Given the description of an element on the screen output the (x, y) to click on. 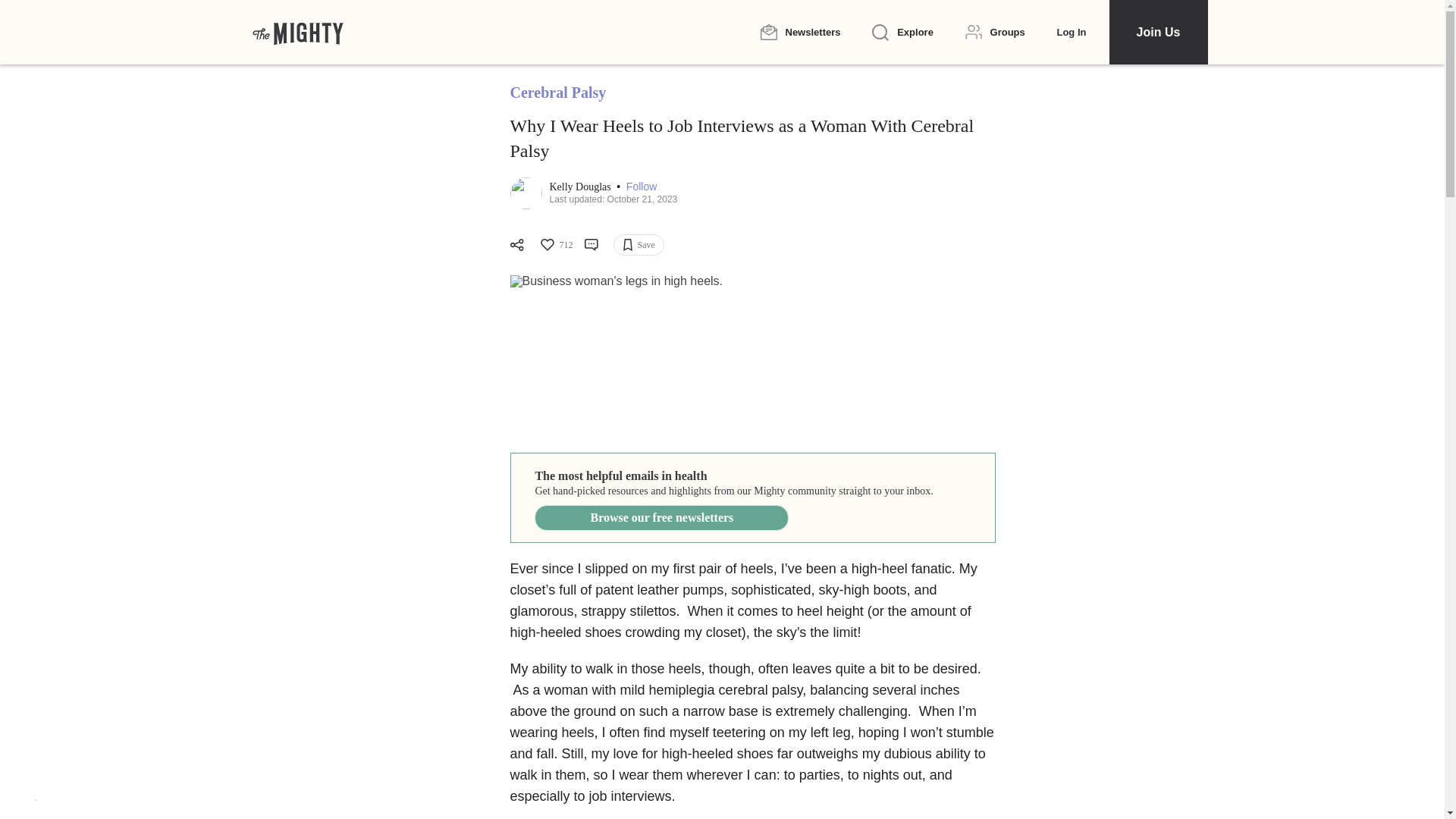
Follow (641, 186)
Explore (902, 32)
Join Us (1157, 32)
Save (637, 244)
Groups (995, 32)
The Mighty (296, 32)
Cerebral Palsy (557, 92)
712 (555, 244)
Kelly Douglas (580, 186)
Newsletters (800, 31)
